Given the description of an element on the screen output the (x, y) to click on. 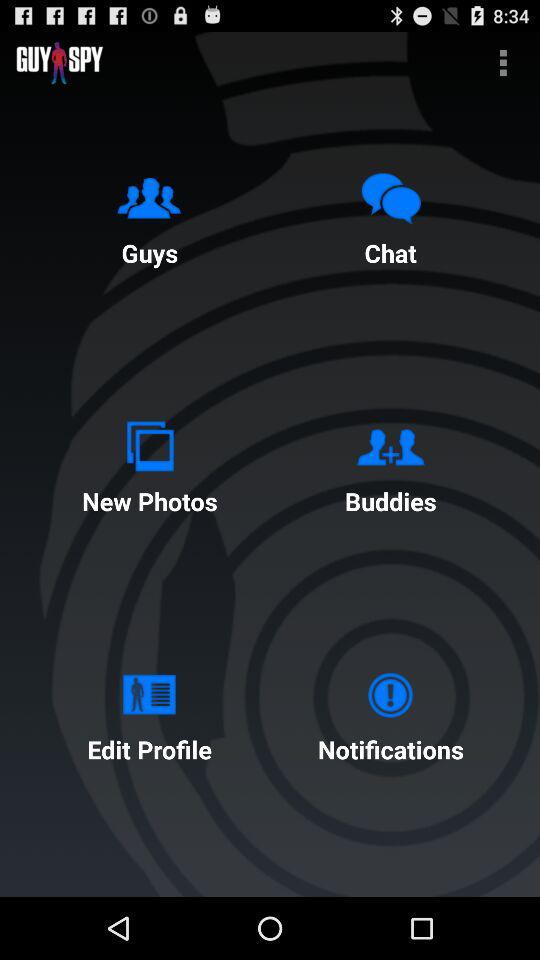
turn off the button above edit profile button (149, 463)
